Given the description of an element on the screen output the (x, y) to click on. 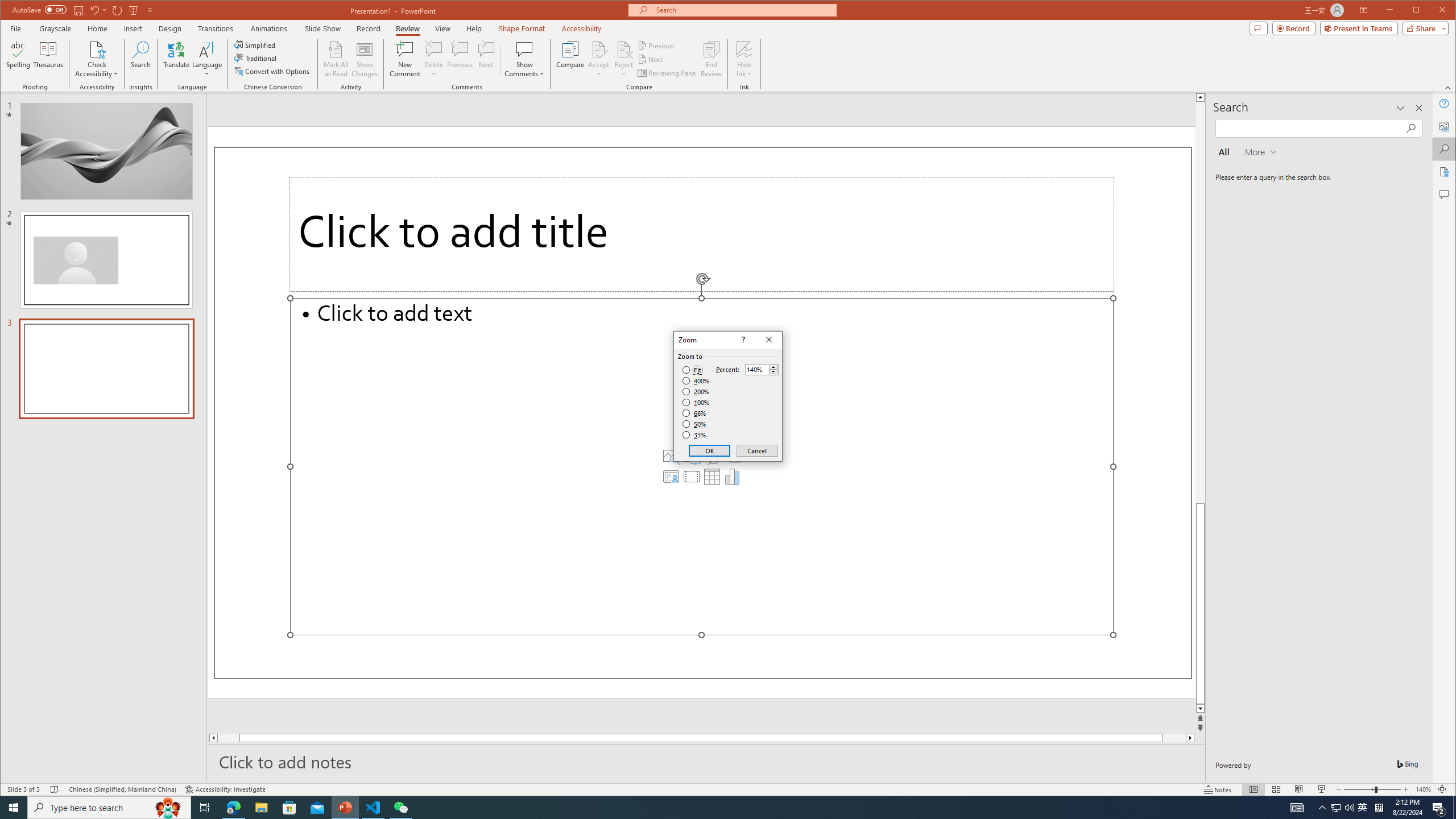
OK (709, 450)
Translate (175, 59)
Percent (761, 369)
